Given the description of an element on the screen output the (x, y) to click on. 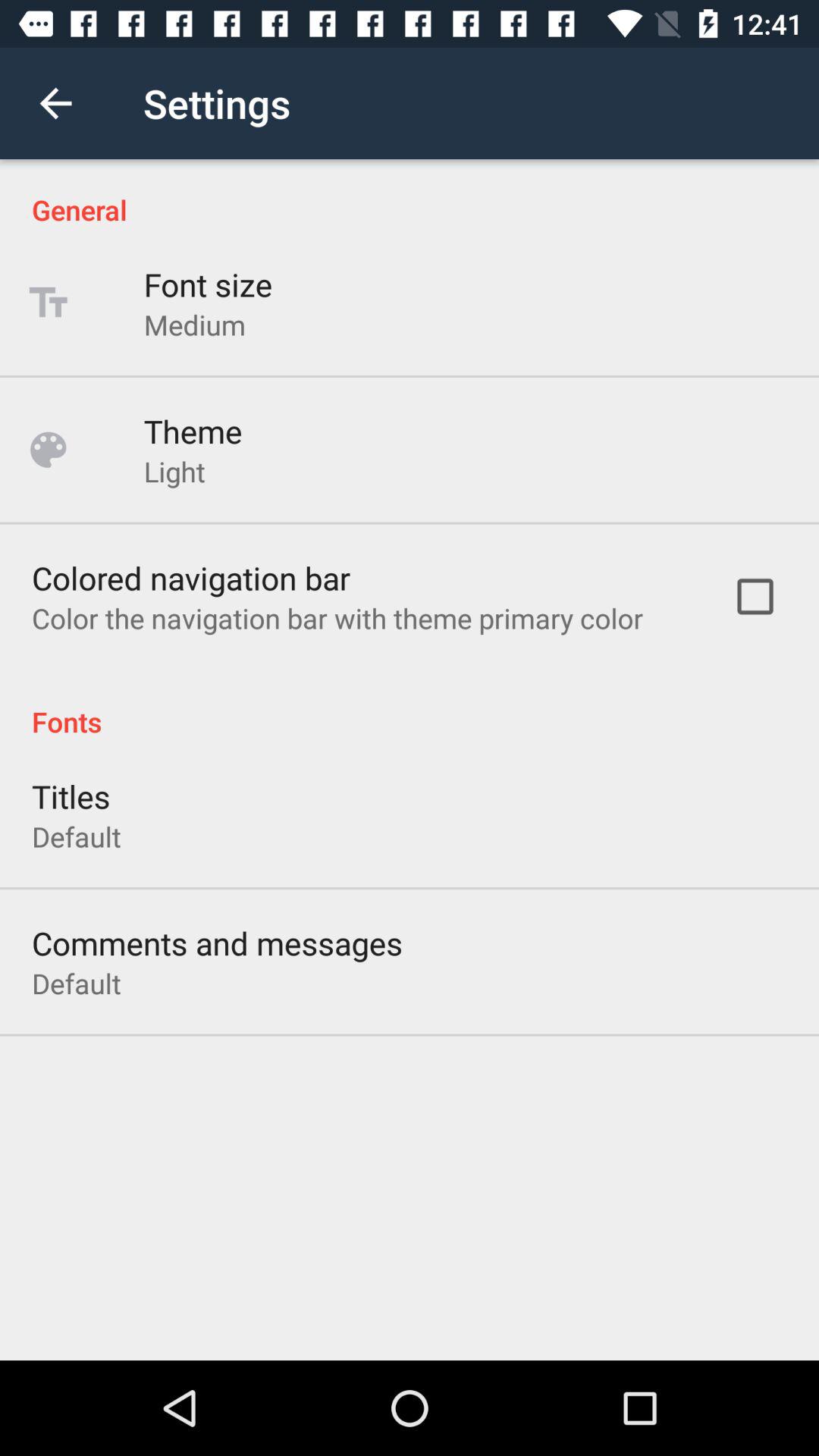
open the comments and messages icon (216, 942)
